Given the description of an element on the screen output the (x, y) to click on. 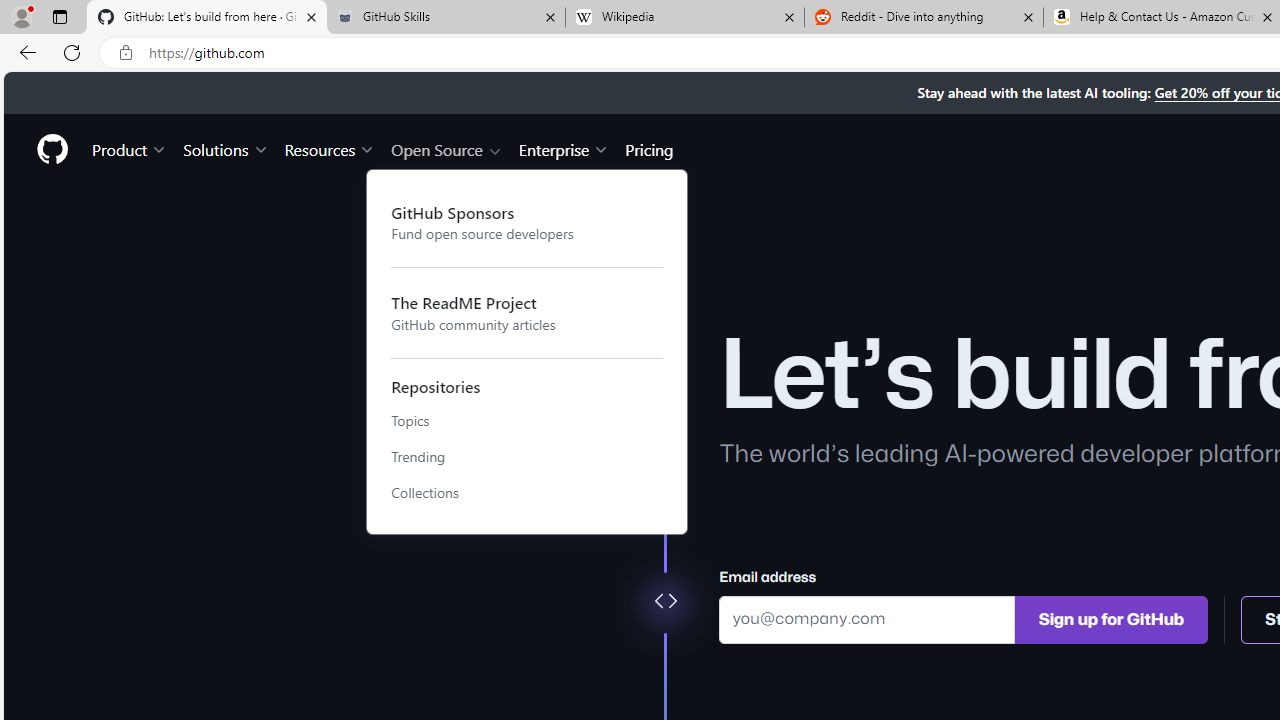
Trending (527, 457)
Pricing (649, 148)
GitHub SponsorsFund open source developers (527, 221)
Open Source (446, 148)
Pricing (649, 148)
Product (130, 148)
Solutions (225, 148)
